Given the description of an element on the screen output the (x, y) to click on. 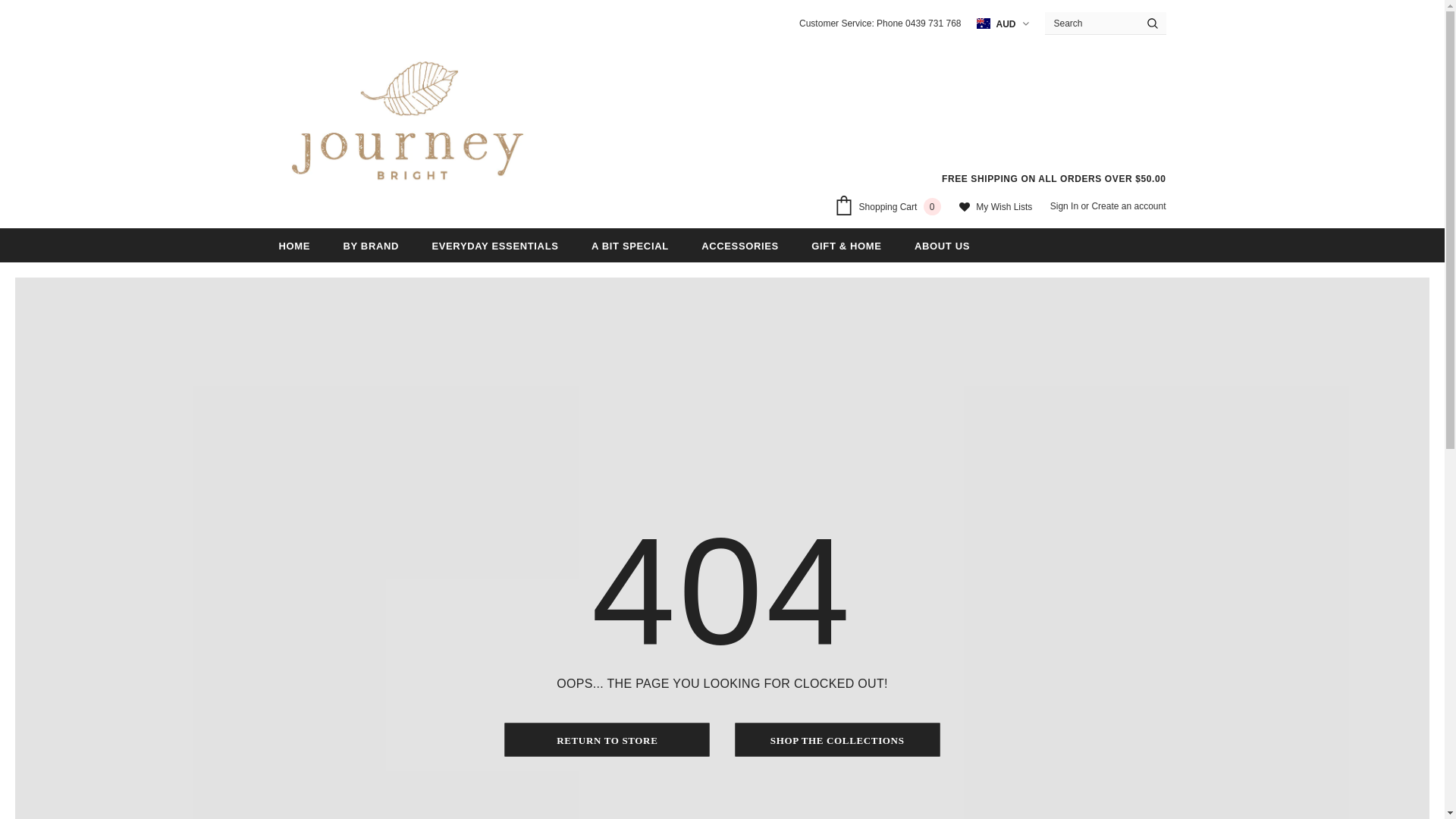
HOME Element type: text (294, 245)
My Wish Lists Element type: text (995, 207)
Sign In Element type: text (1065, 205)
BY BRAND Element type: text (370, 245)
ACCESSORIES Element type: text (739, 245)
SHOP THE COLLECTIONS Element type: text (836, 739)
Shopping Cart 0 Element type: text (890, 207)
EVERYDAY ESSENTIALS Element type: text (494, 245)
Logo Element type: hover (407, 125)
A BIT SPECIAL Element type: text (629, 245)
ABOUT US Element type: text (941, 245)
Create an account Element type: text (1128, 205)
GIFT & HOME Element type: text (846, 245)
RETURN TO STORE Element type: text (607, 739)
